Given the description of an element on the screen output the (x, y) to click on. 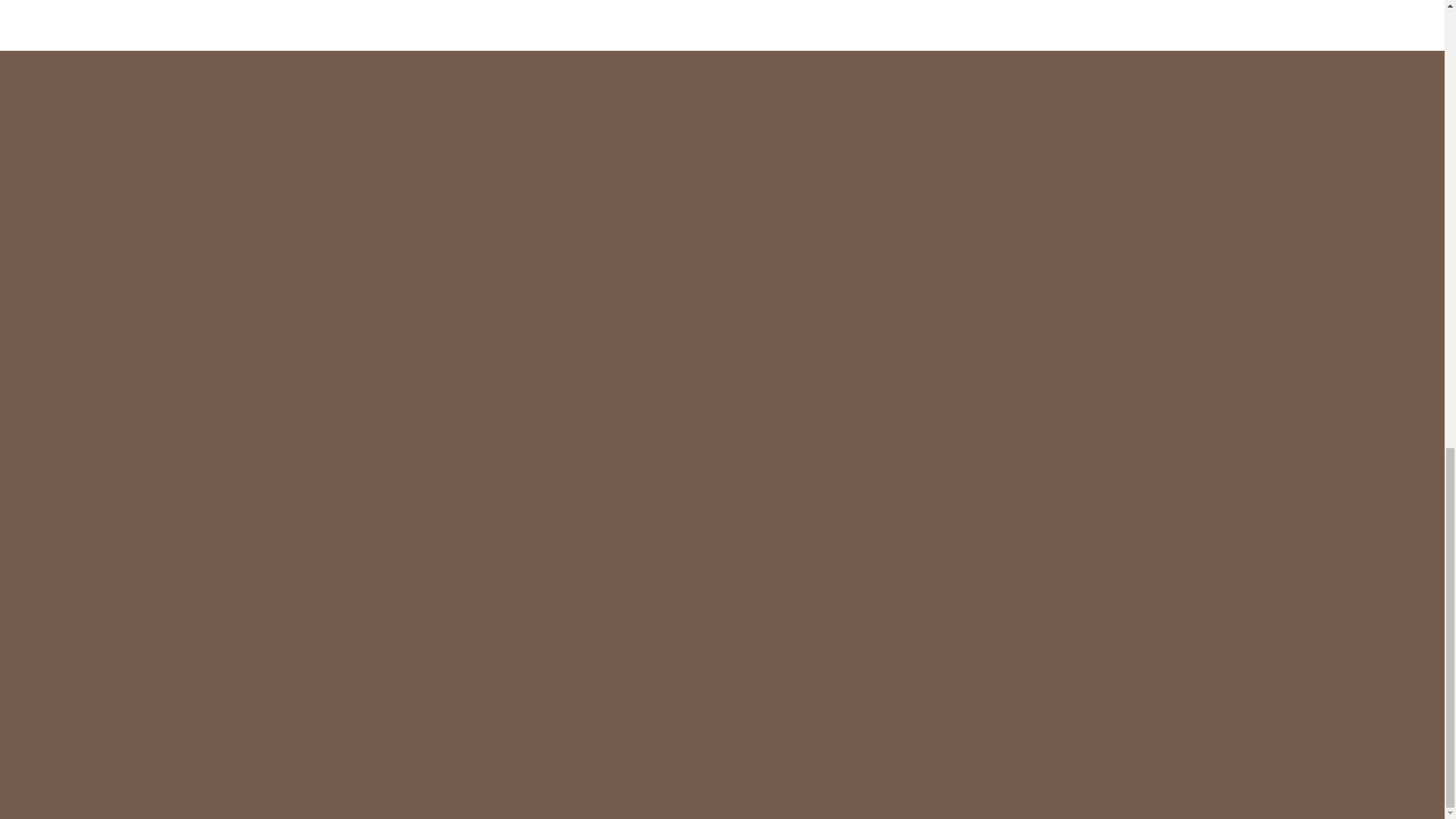
 Submit  (1070, 553)
